Given the description of an element on the screen output the (x, y) to click on. 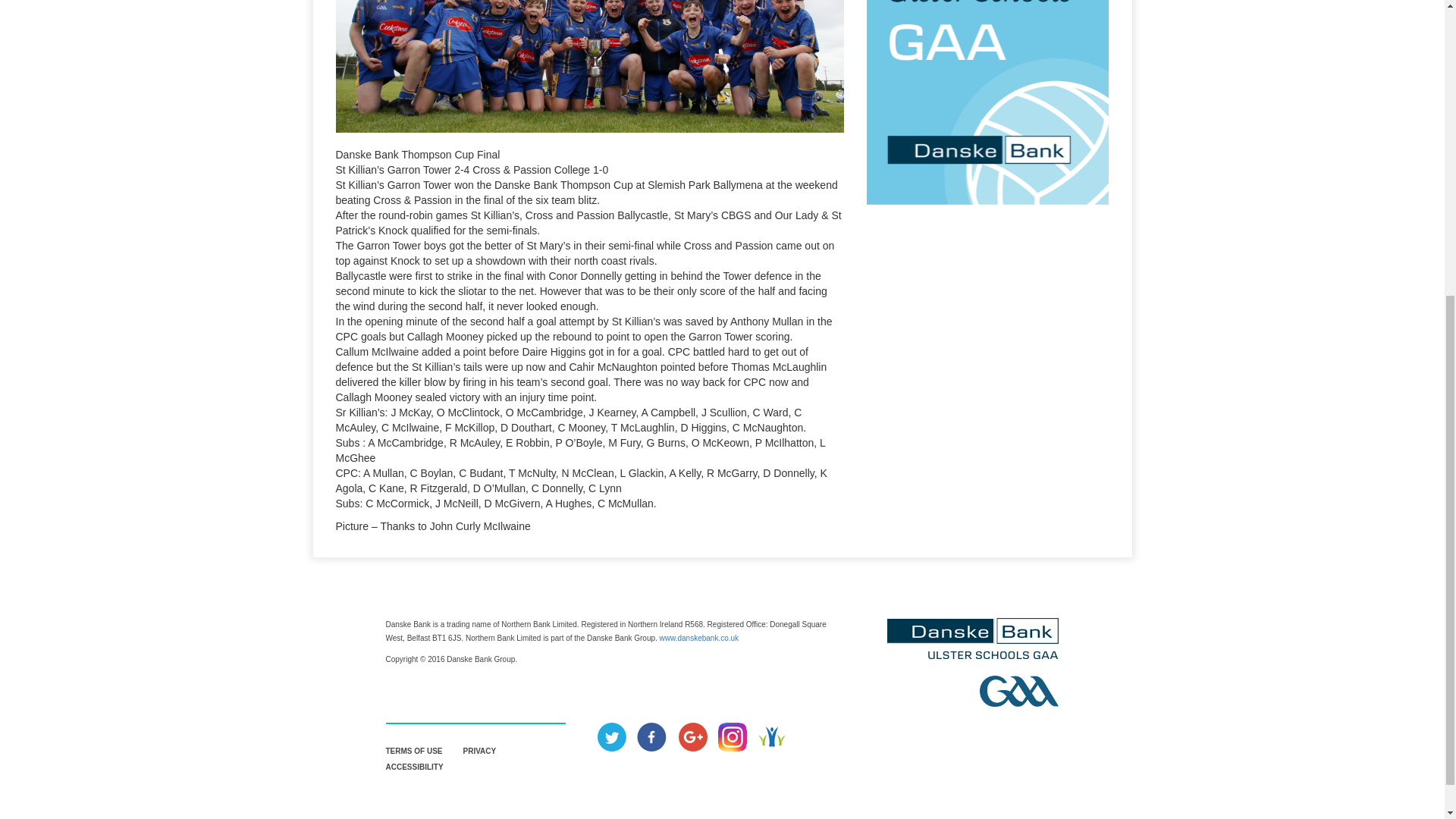
PRIVACY (479, 750)
ACCESSIBILITY (413, 766)
TERMS OF USE (413, 750)
www.danskebank.co.uk (699, 637)
